Given the description of an element on the screen output the (x, y) to click on. 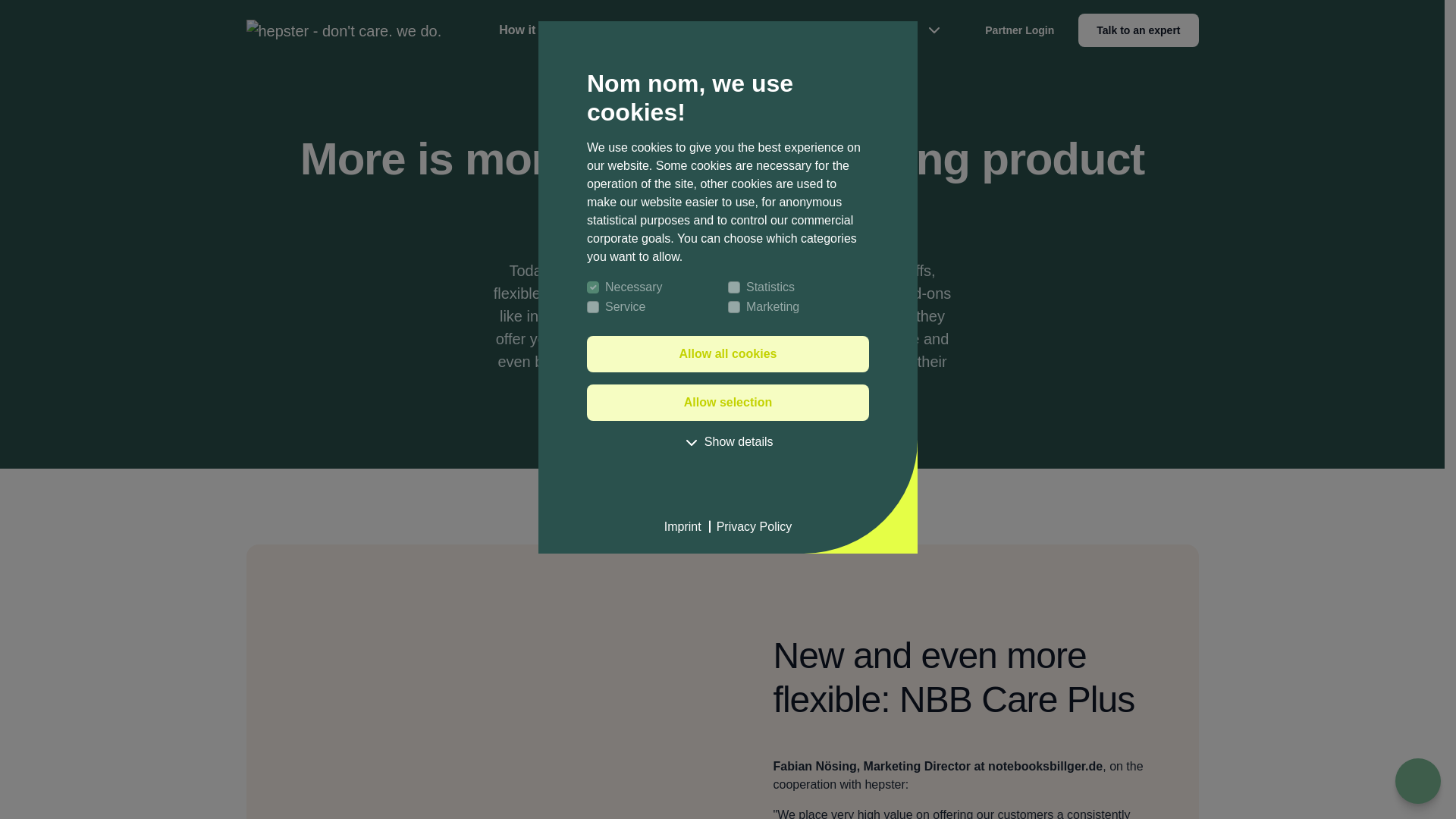
Statistics (733, 287)
Imprint (682, 526)
Resources (807, 29)
Company (719, 29)
Allow selection (727, 402)
Privacy Policy (668, 29)
How it works (750, 526)
Marketing (536, 29)
Necessary (733, 306)
Allow all cookies (592, 287)
Insurance (727, 353)
Talk to an expert (633, 29)
Partner Login (1138, 29)
